Given the description of an element on the screen output the (x, y) to click on. 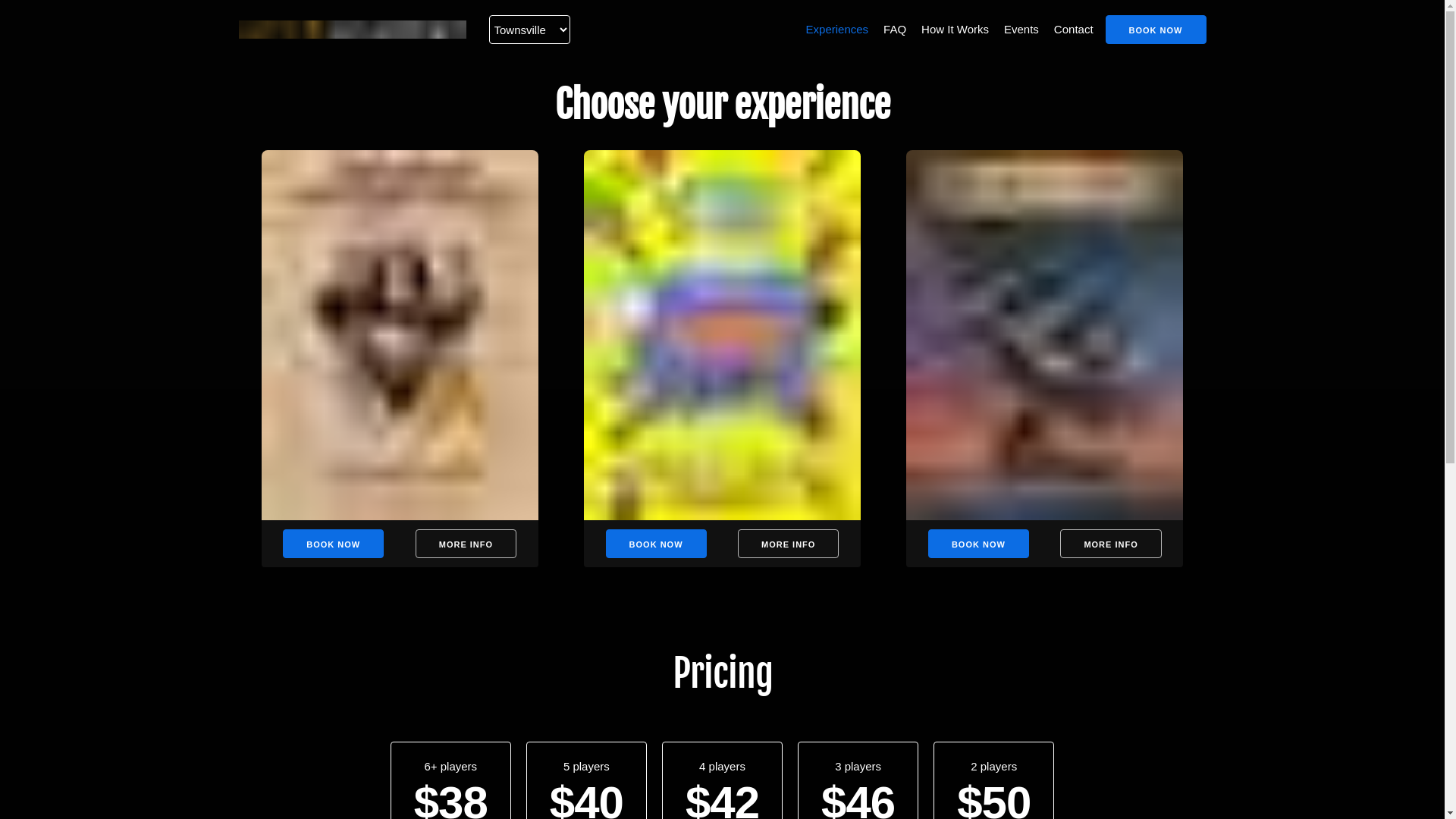
How It Works Element type: text (954, 29)
MORE INFO Element type: text (465, 543)
BOOK NOW Element type: text (655, 543)
Events Element type: text (1021, 29)
BOOK NOW Element type: text (332, 543)
Contact Element type: text (1073, 29)
MORE INFO Element type: text (787, 543)
BOOK NOW Element type: text (1155, 29)
MORE INFO Element type: text (1110, 543)
FAQ Element type: text (894, 29)
BOOK NOW Element type: text (978, 543)
Experiences Element type: text (837, 29)
